Given the description of an element on the screen output the (x, y) to click on. 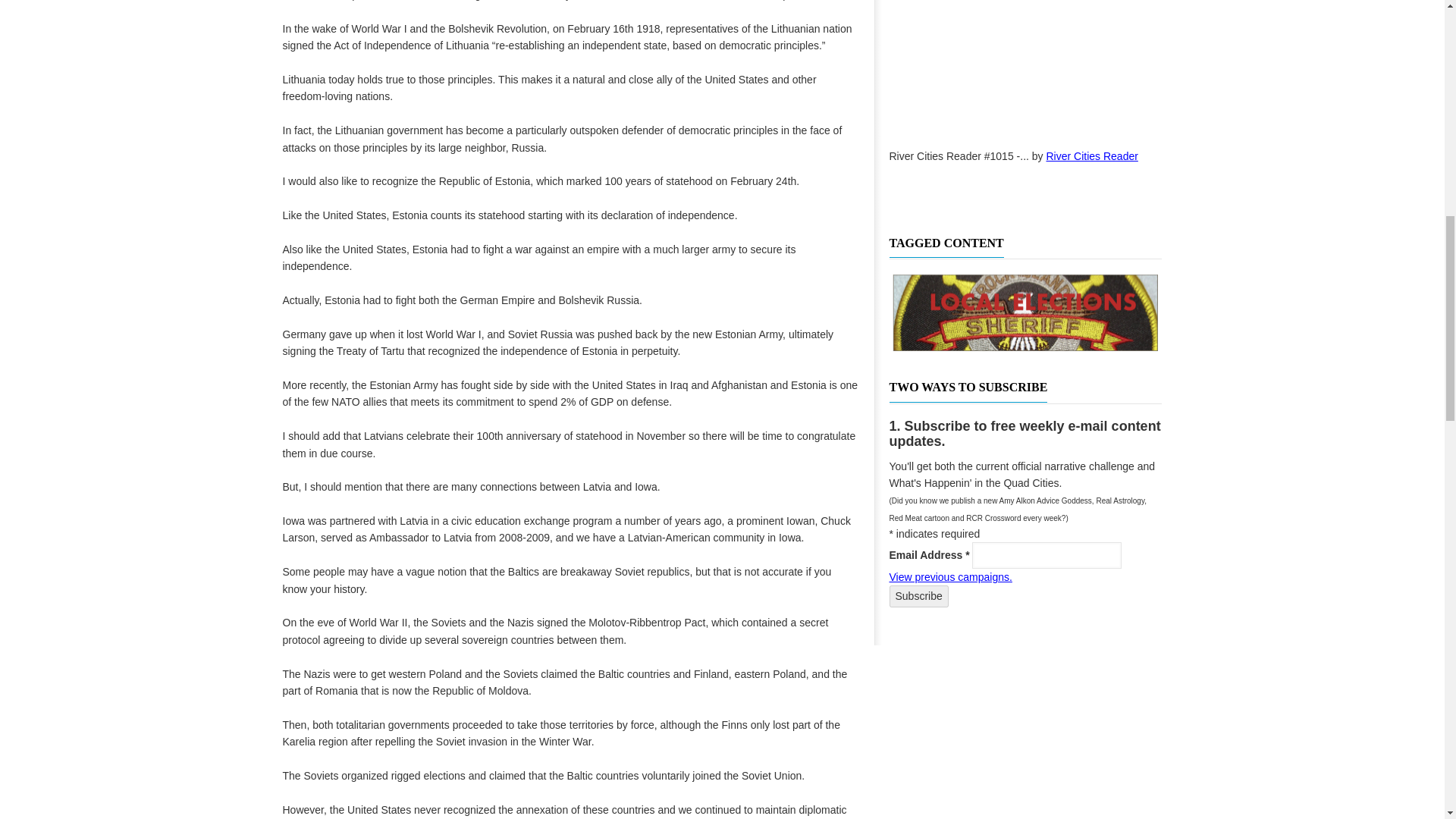
Subscribe (917, 595)
View River Cities Reader's profile on Scribd (1092, 155)
View previous campaigns (949, 576)
